Given the description of an element on the screen output the (x, y) to click on. 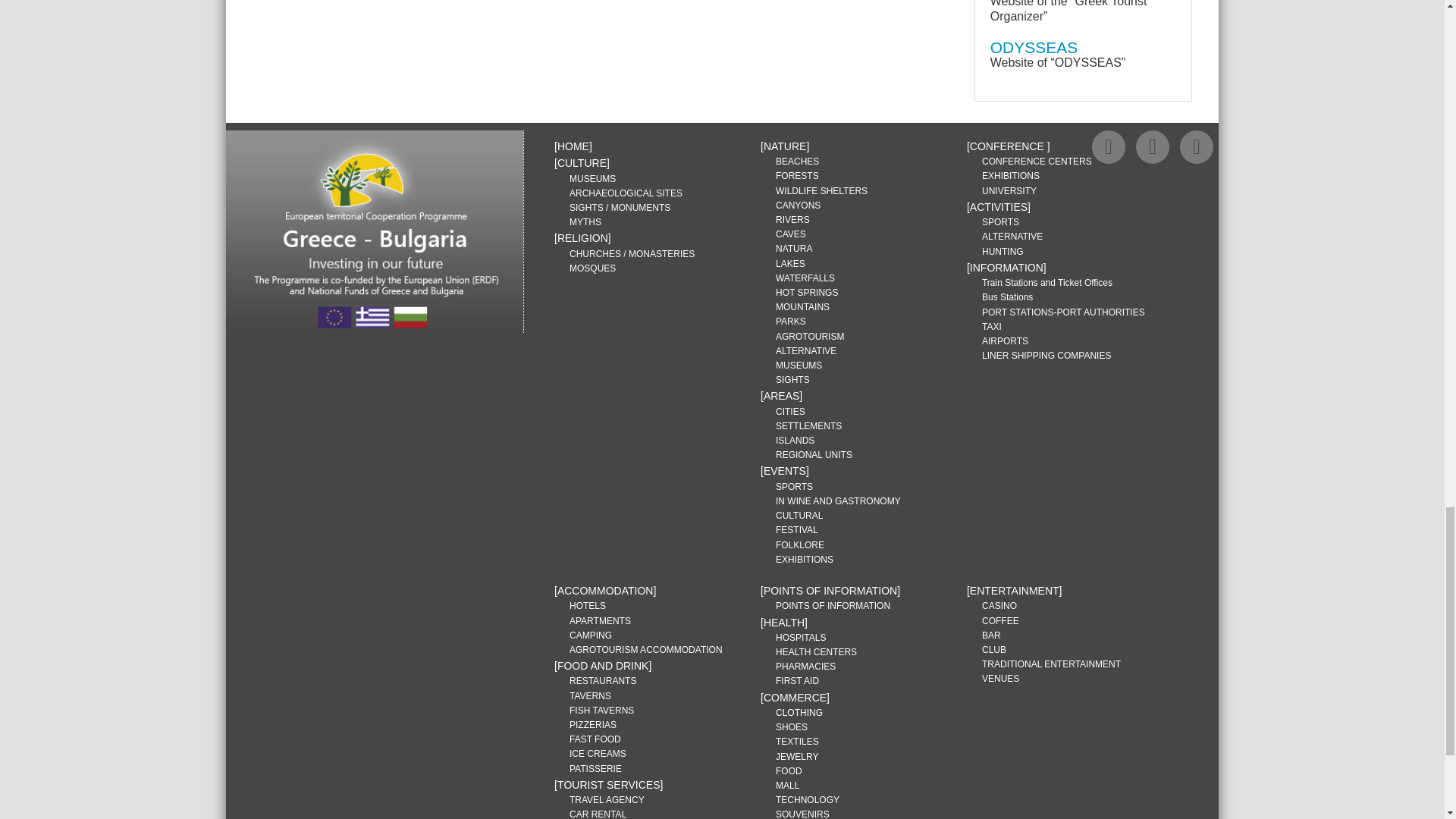
Youtube Channel (1195, 146)
Twitter (1152, 146)
